Given the description of an element on the screen output the (x, y) to click on. 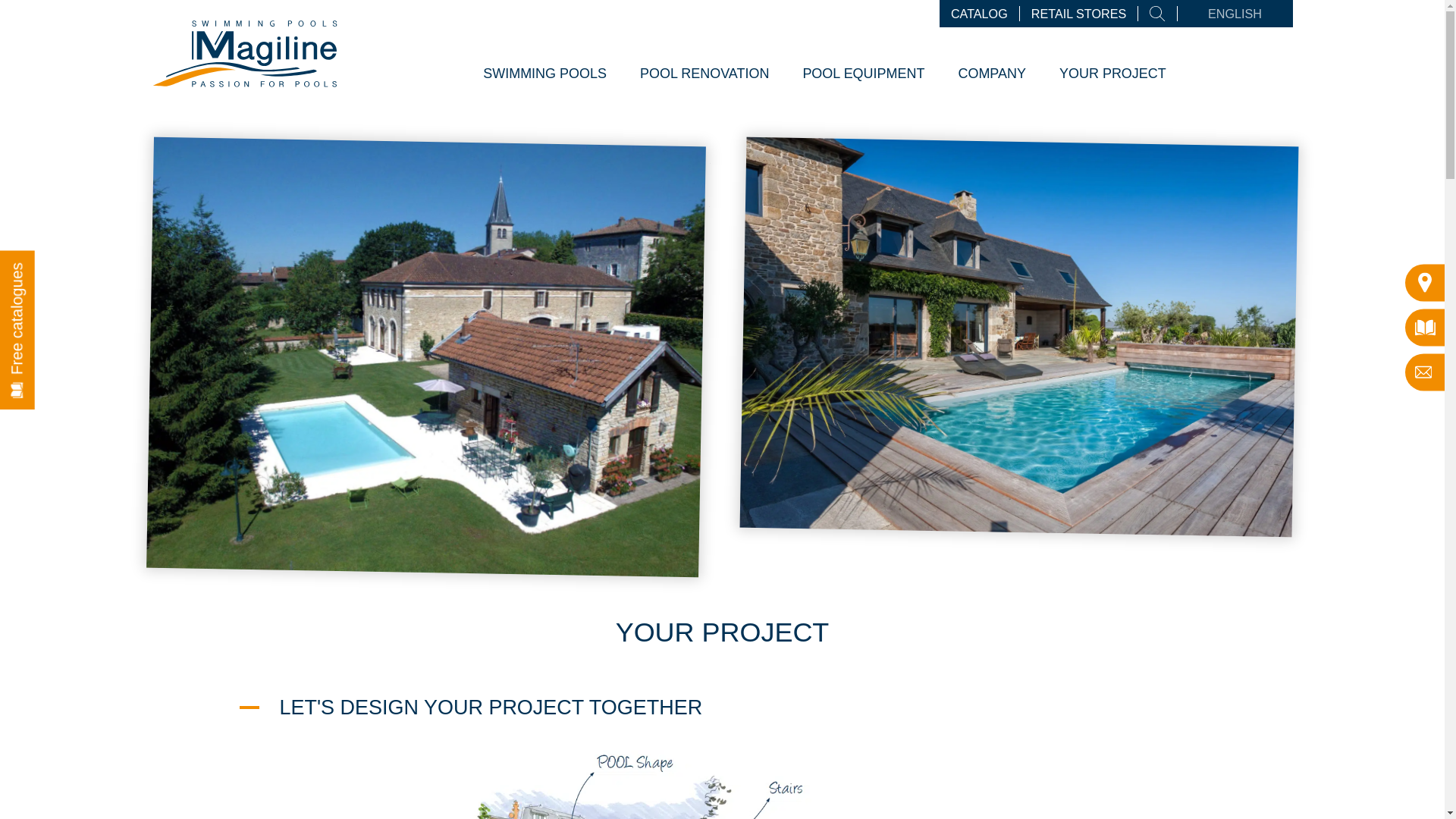
COMPANY (992, 73)
SWIMMING POOLS (545, 73)
POOL EQUIPMENT (863, 73)
RETAIL STORES (1084, 13)
POOL RENOVATION (704, 73)
Accueil Magiline (244, 93)
CATALOG (985, 13)
